Given the description of an element on the screen output the (x, y) to click on. 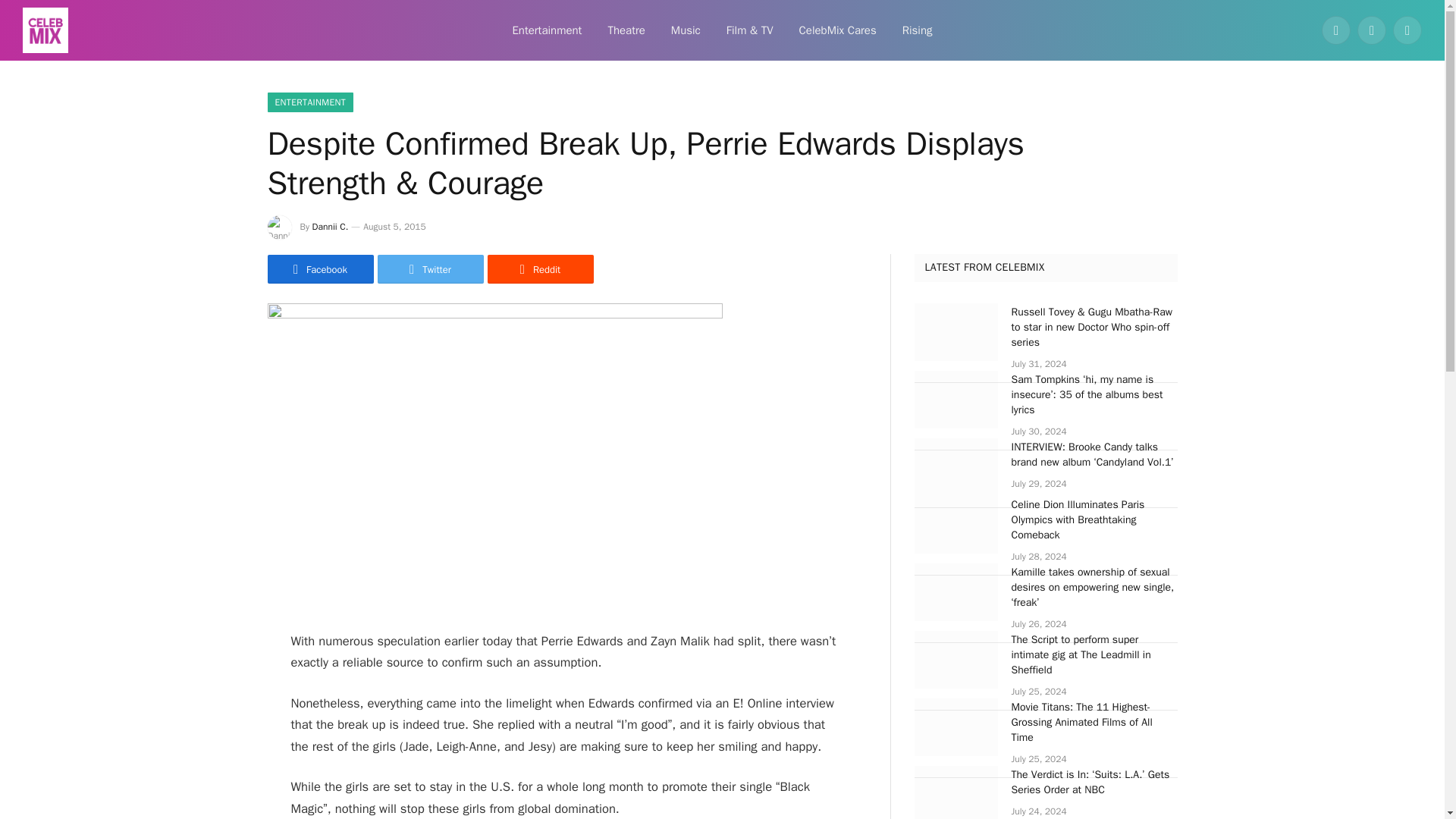
ENTERTAINMENT (309, 102)
Dannii C. (331, 226)
Posts by Dannii C. (331, 226)
Instagram (1407, 30)
Entertainment (546, 30)
Share on Facebook (319, 268)
Rising (916, 30)
Music (685, 30)
Facebook (1336, 30)
Theatre (626, 30)
Facebook (319, 268)
Reddit (539, 268)
Share on Reddit (539, 268)
Twitter (430, 268)
CelebMix Cares (837, 30)
